Given the description of an element on the screen output the (x, y) to click on. 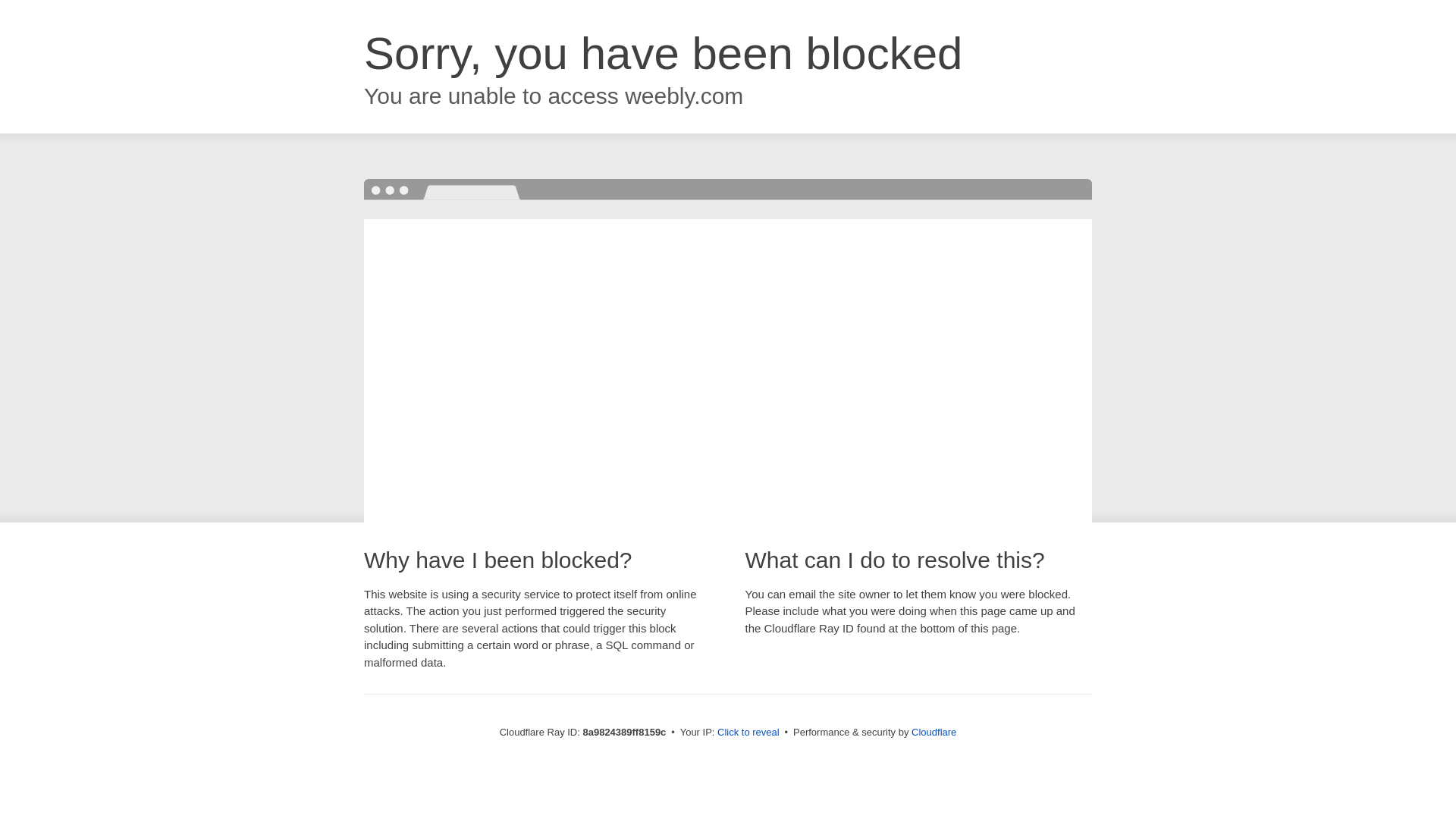
Click to reveal (747, 732)
Cloudflare (933, 731)
